Given the description of an element on the screen output the (x, y) to click on. 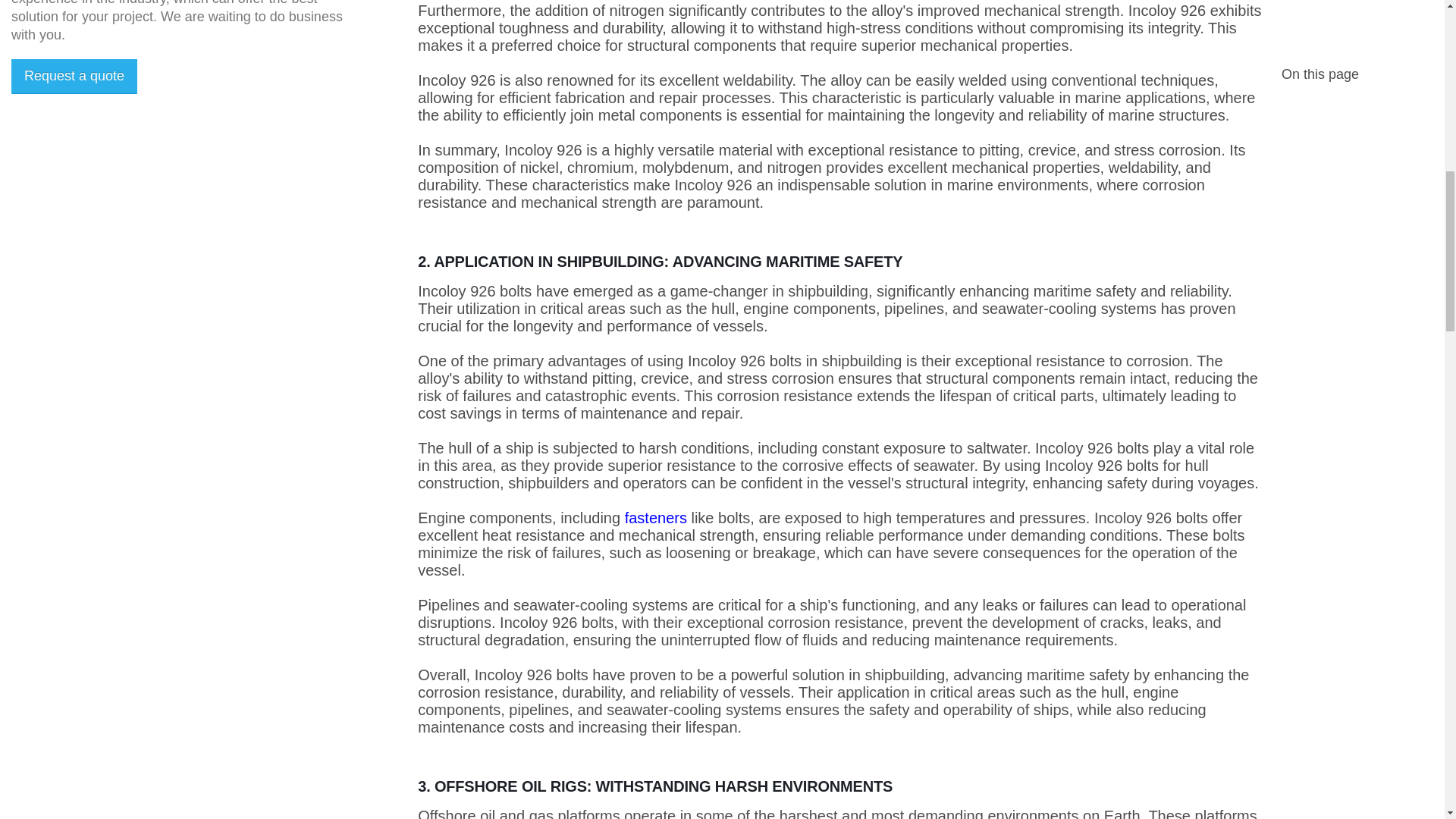
2. APPLICATION IN SHIPBUILDING: ADVANCING MARITIME SAFETY (840, 261)
fasteners (655, 517)
3. OFFSHORE OIL RIGS: WITHSTANDING HARSH ENVIRONMENTS (840, 786)
